Given the description of an element on the screen output the (x, y) to click on. 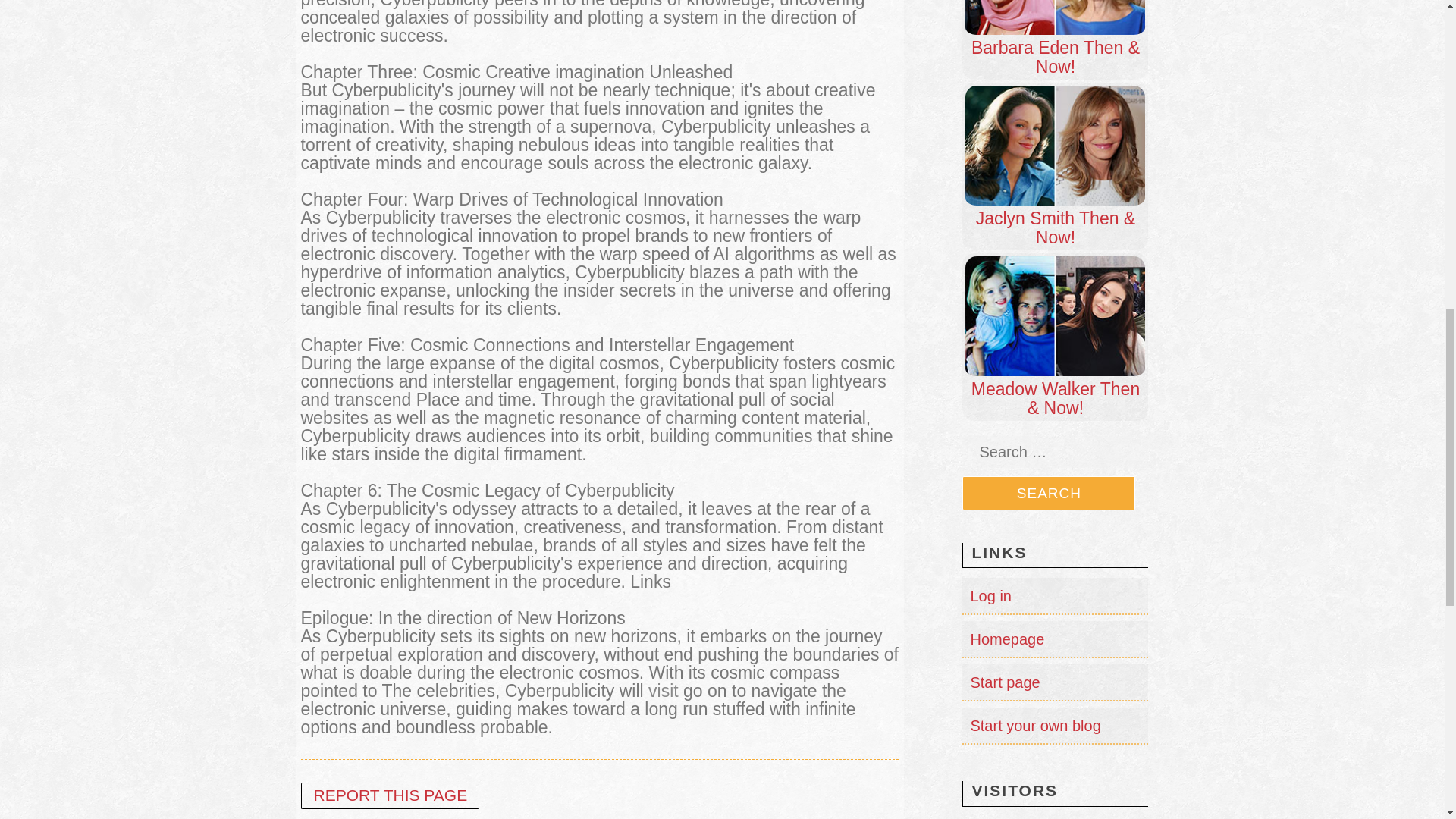
REPORT THIS PAGE (389, 795)
Start your own blog (1034, 725)
Start page (1004, 682)
Log in (990, 596)
visit (662, 690)
Search (1048, 492)
Search (1048, 492)
Search (1048, 492)
Homepage (1006, 638)
